Given the description of an element on the screen output the (x, y) to click on. 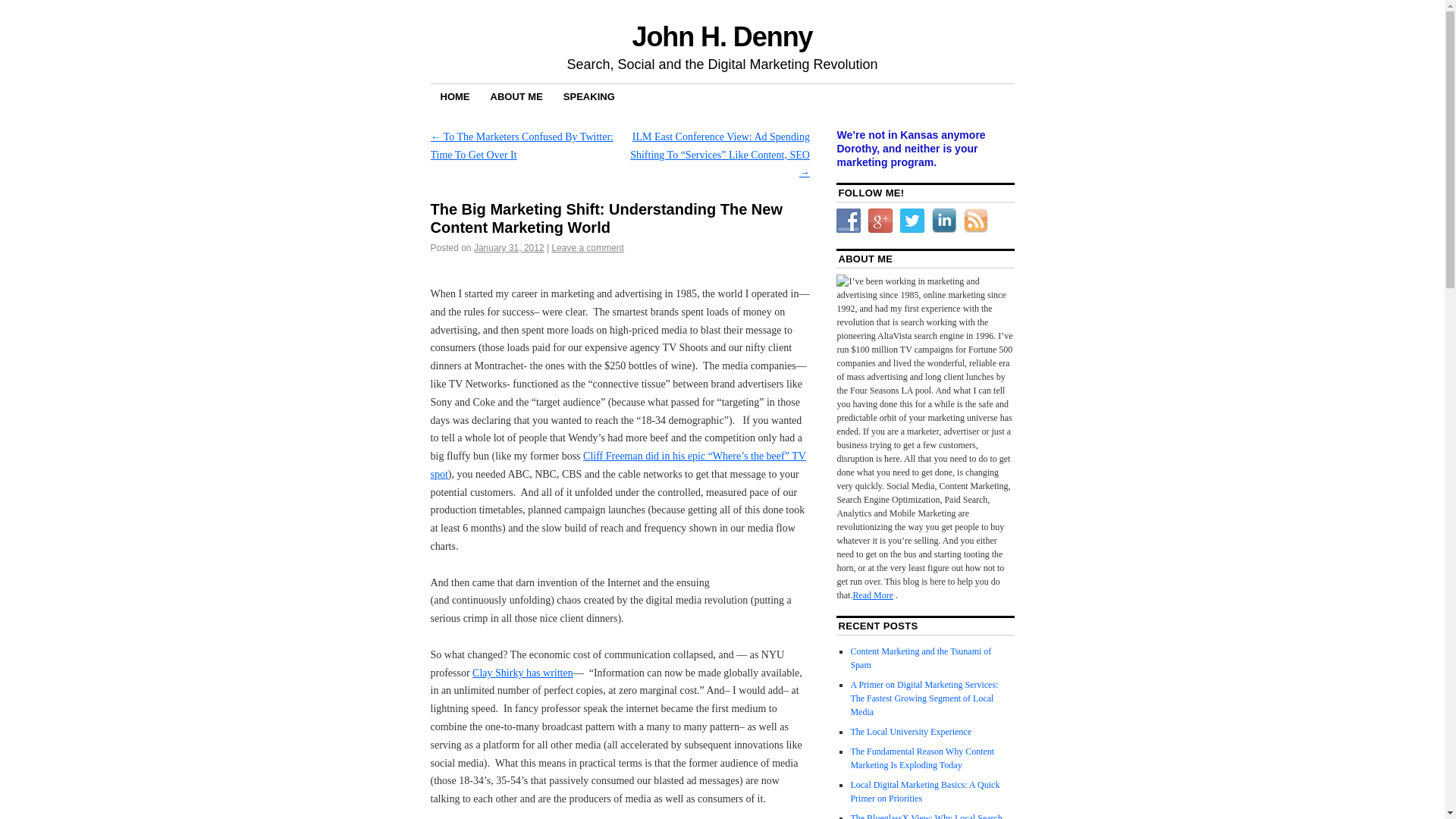
Clay Shirky has written (522, 672)
Content Marketing and the Tsunami of Spam (920, 658)
Follow on Twitter (911, 220)
Follow on Facebook (847, 220)
7:41 am (509, 247)
HOME (455, 96)
SPEAKING (588, 96)
January 31, 2012 (509, 247)
The Local University Experience (910, 731)
Leave a comment (587, 247)
Clay Shirky on the Media Revolution (522, 672)
The BlueglassX View: Why Local Search Hypergrowth Is Here (925, 816)
Local Digital Marketing Basics: A Quick Primer on Priorities (924, 791)
John H. Denny (721, 36)
